Given the description of an element on the screen output the (x, y) to click on. 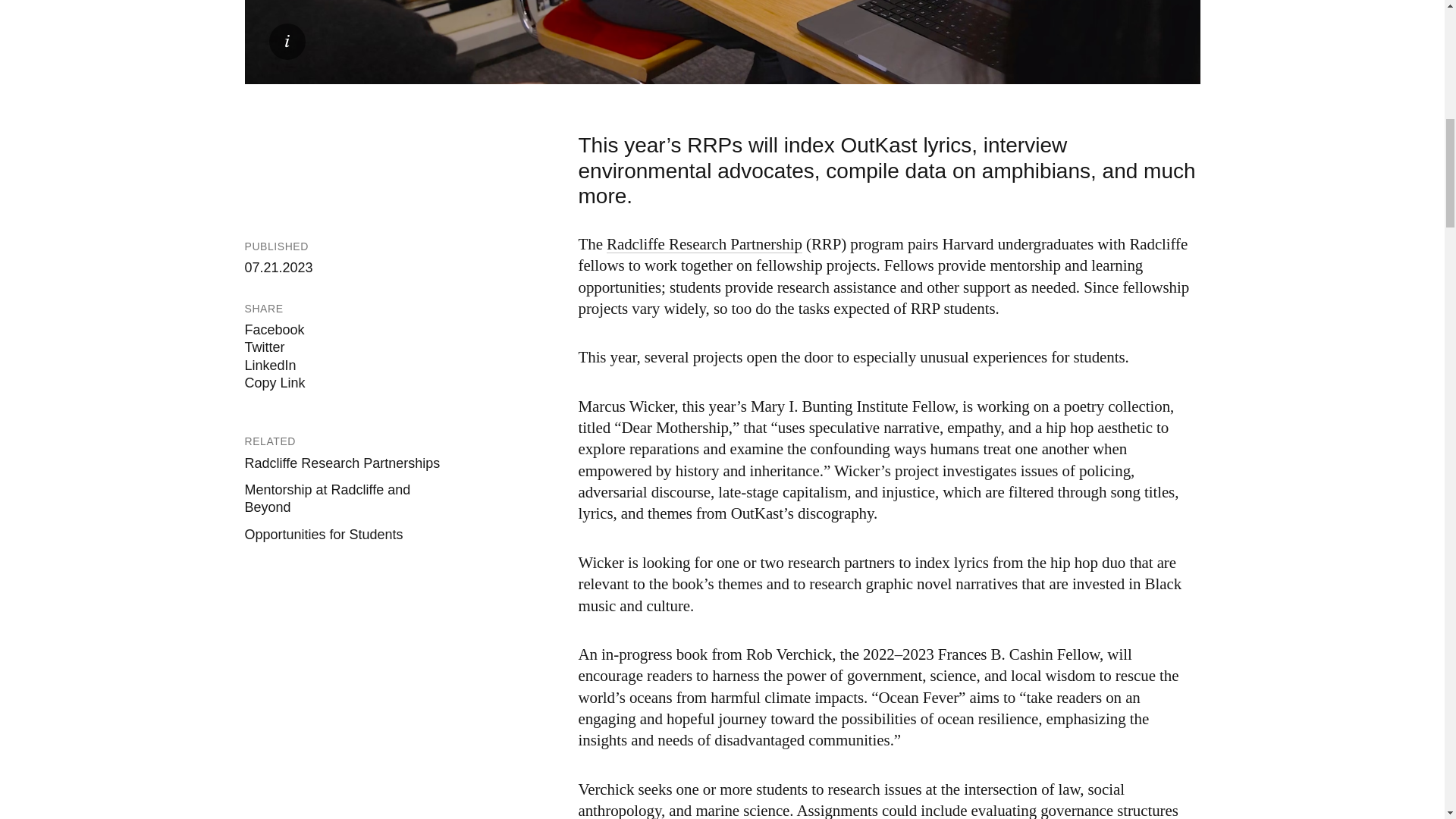
Toggle information (285, 41)
